Given the description of an element on the screen output the (x, y) to click on. 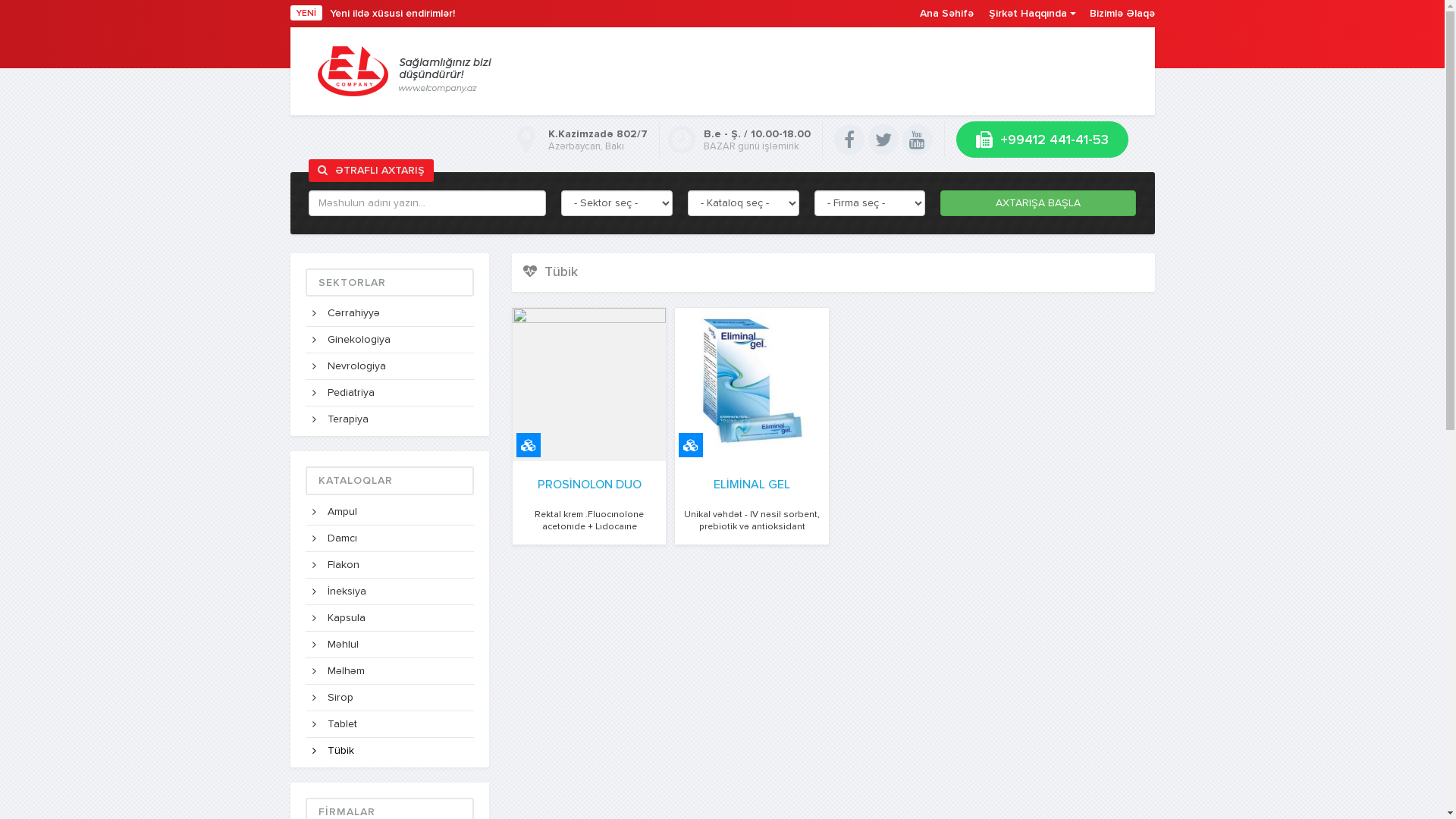
Flakon Element type: text (388, 565)
Pediatriya Element type: text (388, 392)
Ginekologiya Element type: text (388, 339)
Terapiya Element type: text (388, 419)
Sirop Element type: text (388, 697)
Twitter Element type: text (882, 139)
Ampul Element type: text (388, 511)
Nevrologiya Element type: text (388, 366)
Youtube Element type: text (917, 139)
Kapsula Element type: text (388, 618)
Facebook Element type: text (849, 139)
Tablet Element type: text (388, 724)
+99412 441-41-53 Element type: text (1041, 139)
